Given the description of an element on the screen output the (x, y) to click on. 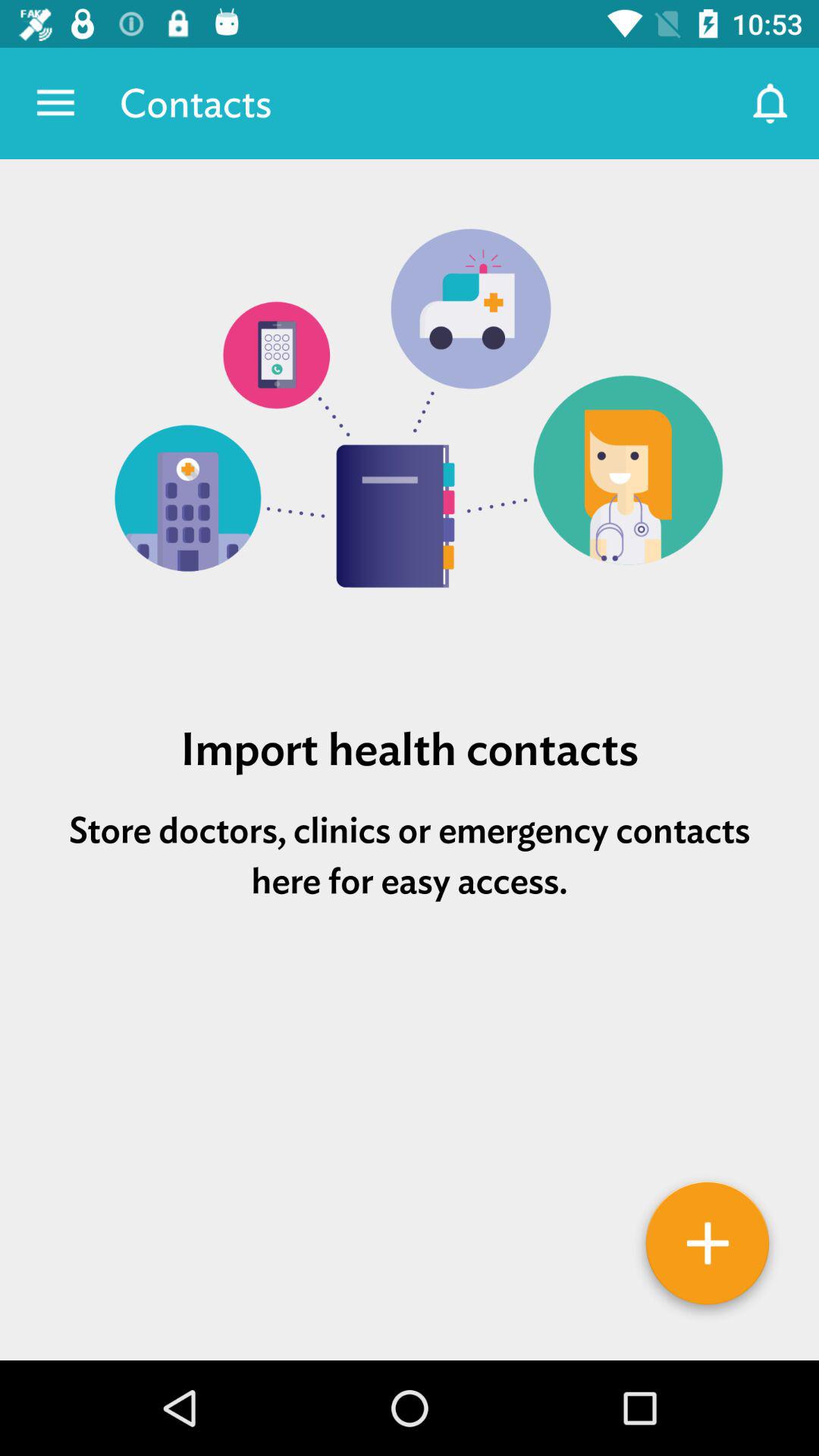
click the item at the bottom right corner (707, 1248)
